Given the description of an element on the screen output the (x, y) to click on. 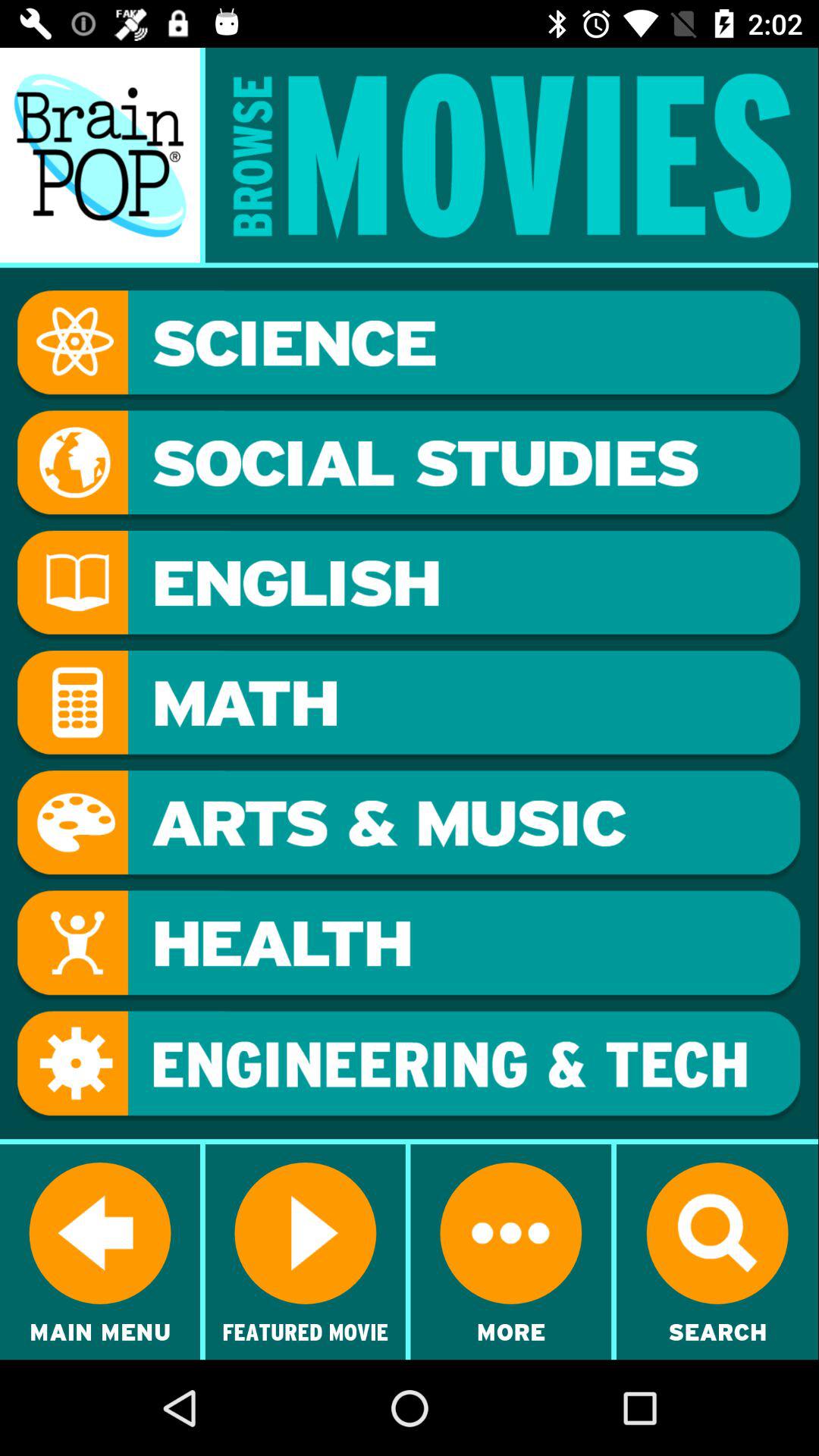
show movies about social studies (408, 464)
